Given the description of an element on the screen output the (x, y) to click on. 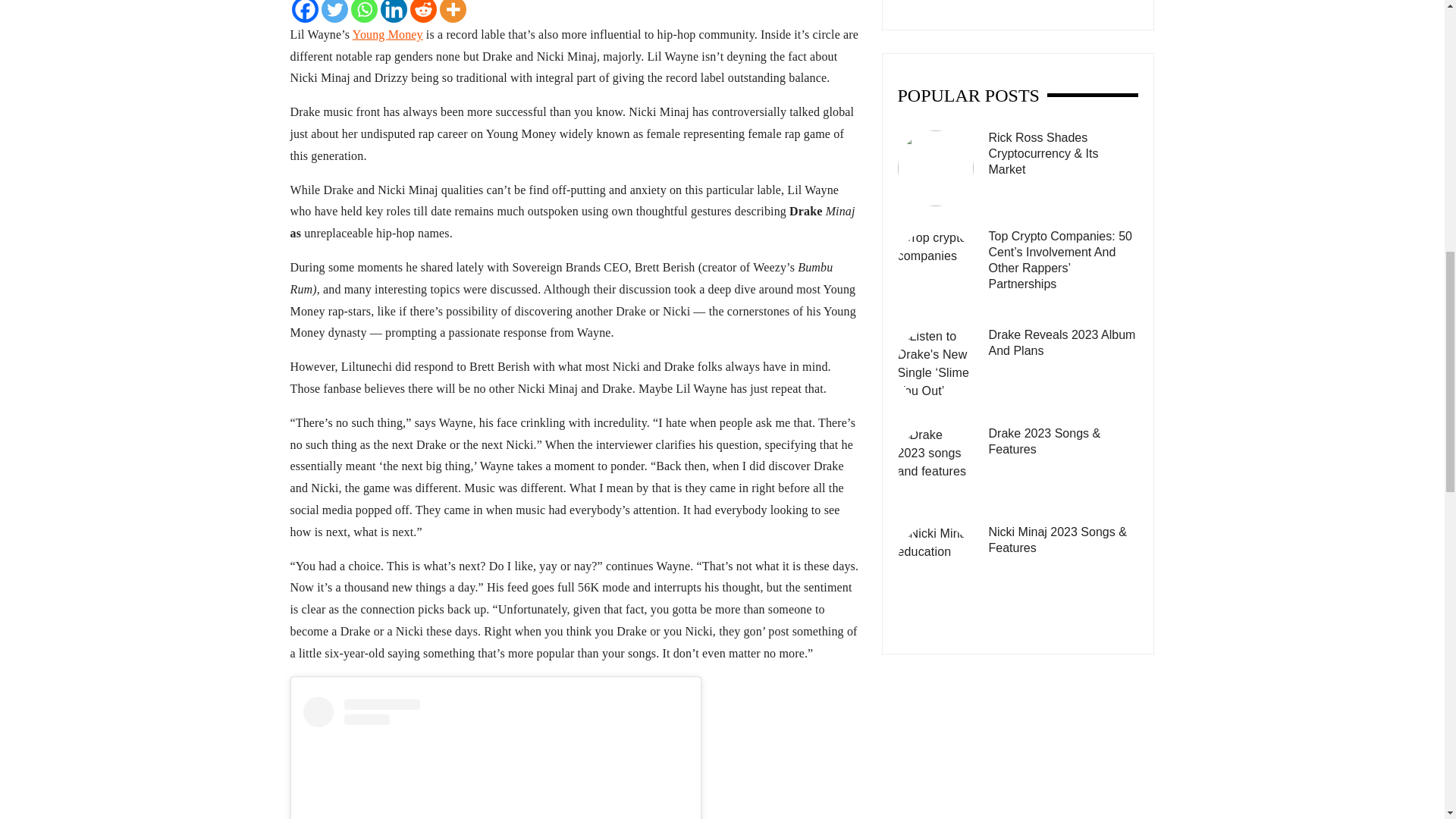
Whatsapp (363, 11)
Young Money (387, 33)
Facebook (304, 11)
Reddit (422, 11)
Linkedin (393, 11)
View this post on Instagram (495, 757)
Twitter (334, 11)
More (452, 11)
